Given the description of an element on the screen output the (x, y) to click on. 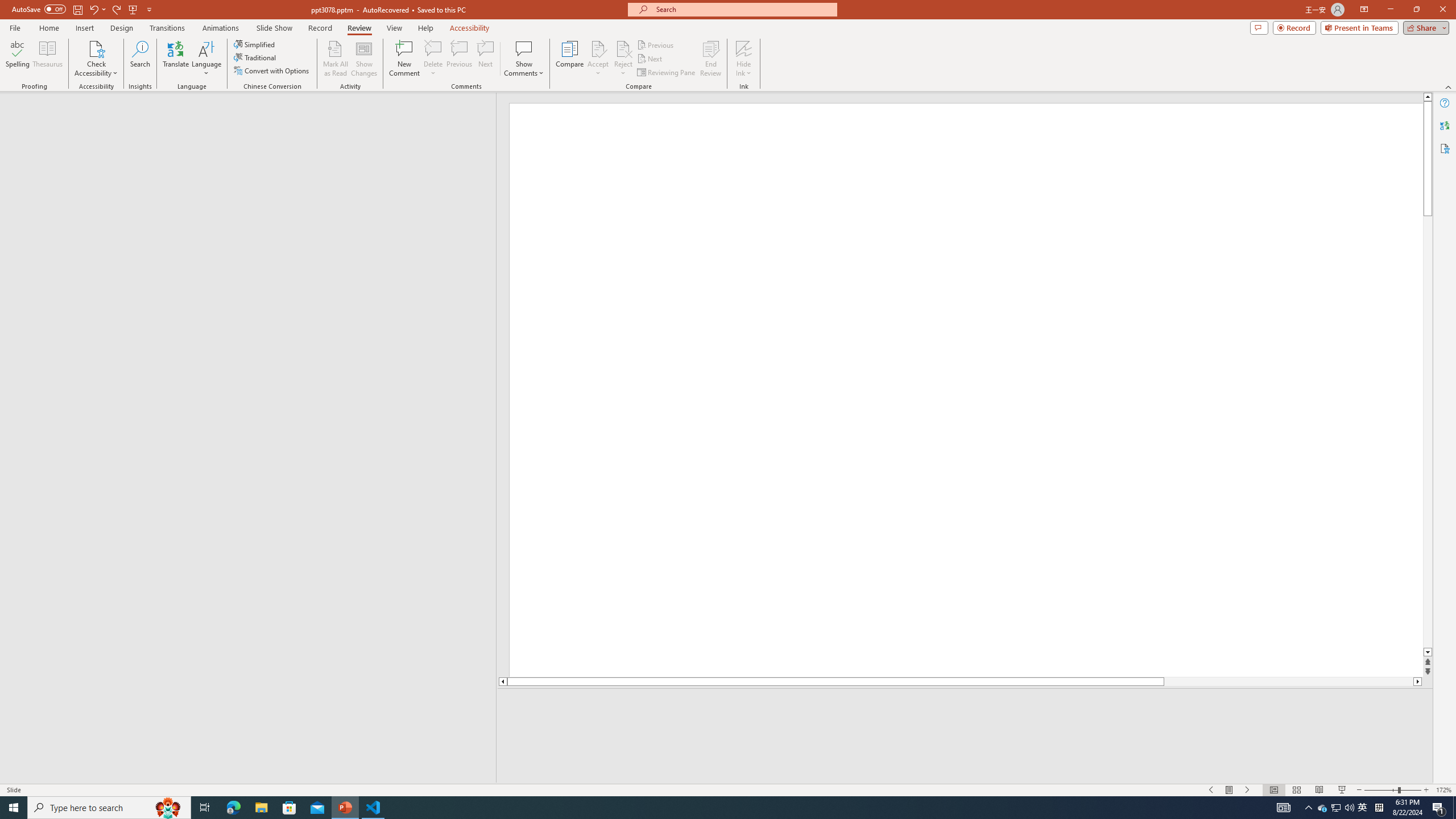
Mark All as Read (335, 58)
Thesaurus... (47, 58)
